Given the description of an element on the screen output the (x, y) to click on. 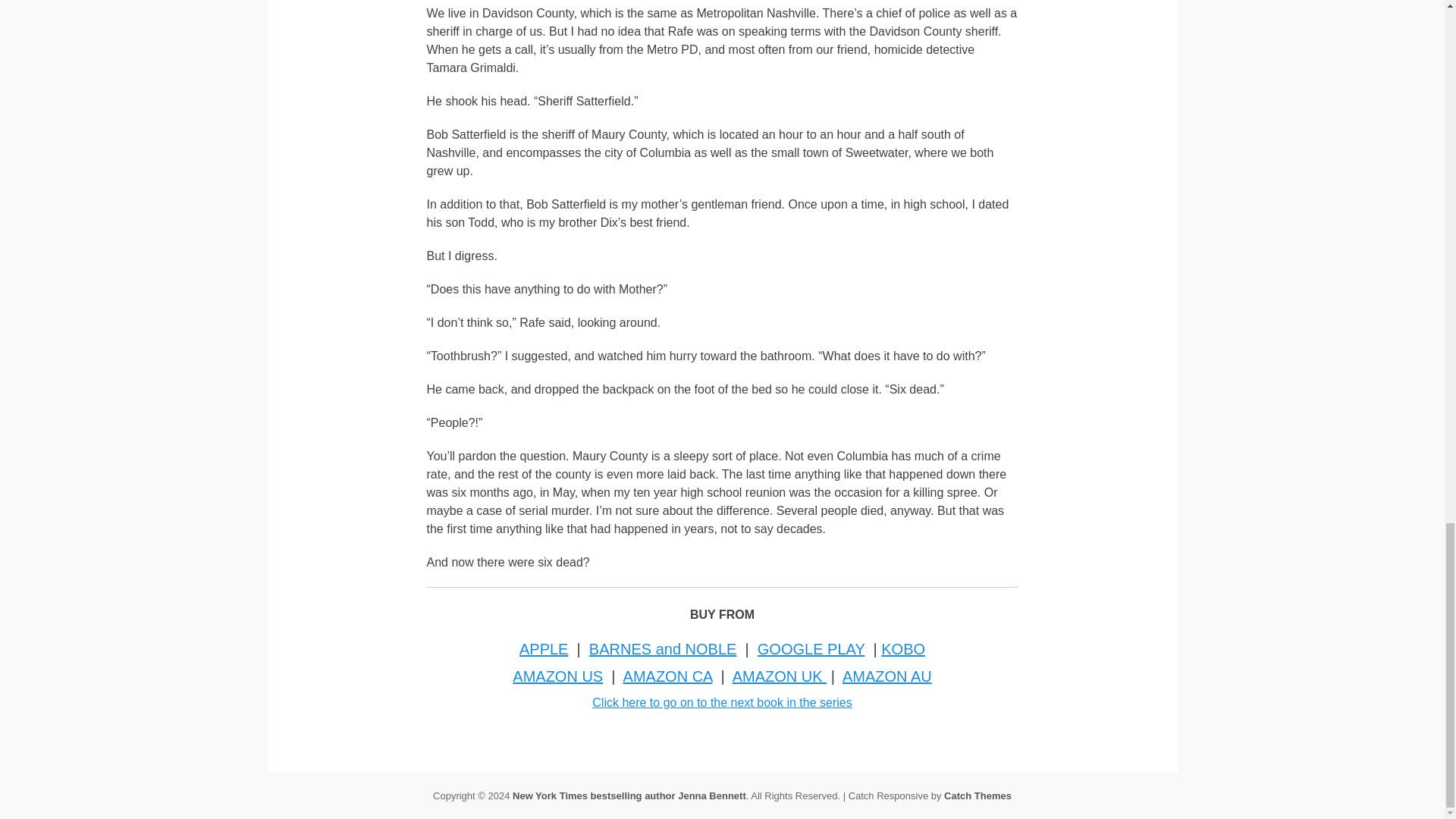
BARNES and NOBLE (662, 648)
GOOGLE PLAY (810, 648)
APPLE (543, 648)
